Given the description of an element on the screen output the (x, y) to click on. 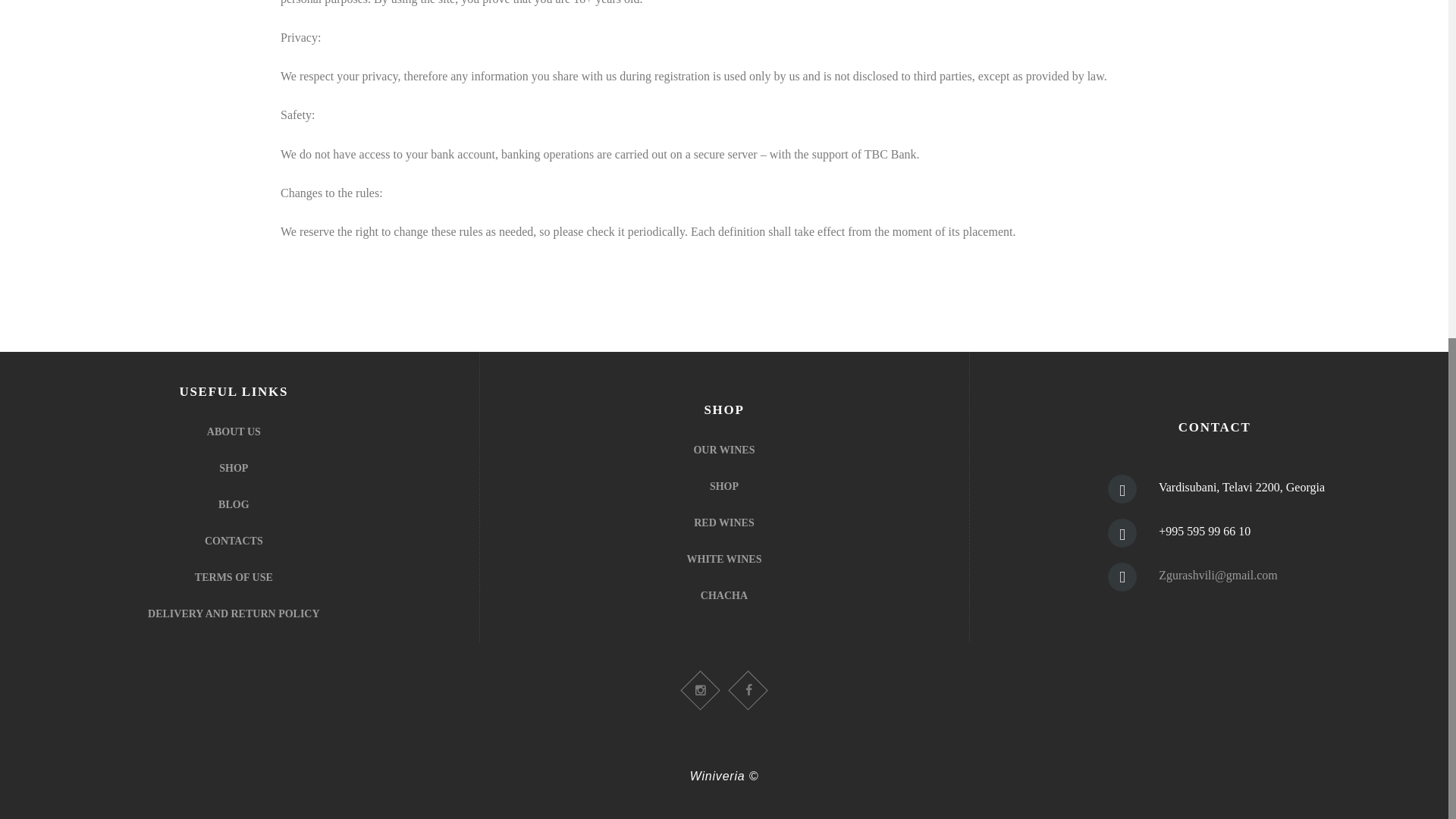
SHOP (724, 486)
CONTACTS (234, 541)
SHOP (233, 468)
TERMS OF USE (234, 577)
OUR WINES (723, 449)
BLOG (233, 504)
ABOUT US (233, 431)
DELIVERY AND RETURN POLICY (234, 613)
